Given the description of an element on the screen output the (x, y) to click on. 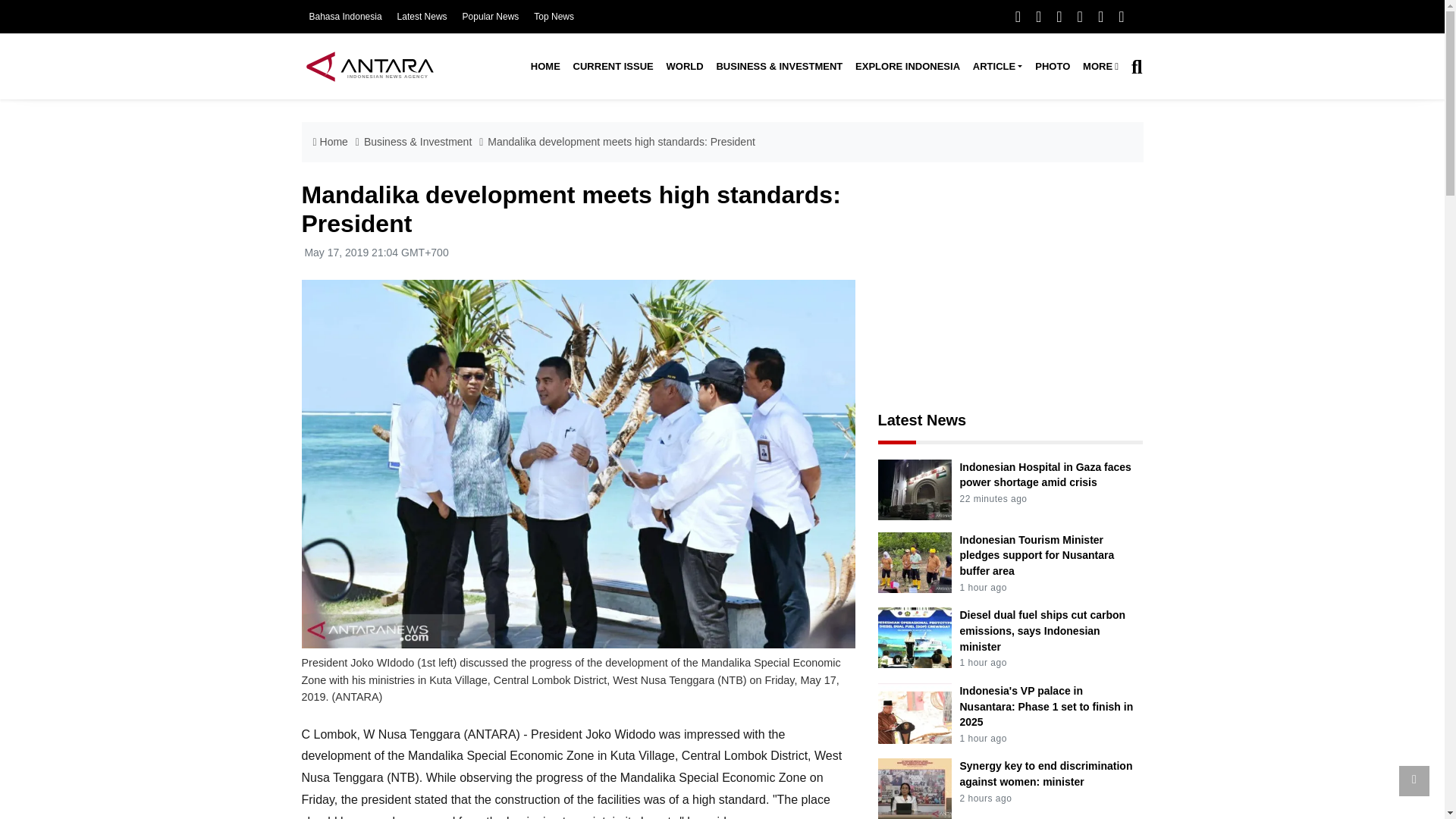
Popular News (491, 16)
Latest News (421, 16)
ANTARA News (369, 66)
Top News (553, 16)
Popular News (491, 16)
ARTICLE (996, 66)
Latest News (421, 16)
Bahasa Indonesia (344, 16)
CURRENT ISSUE (612, 66)
